Given the description of an element on the screen output the (x, y) to click on. 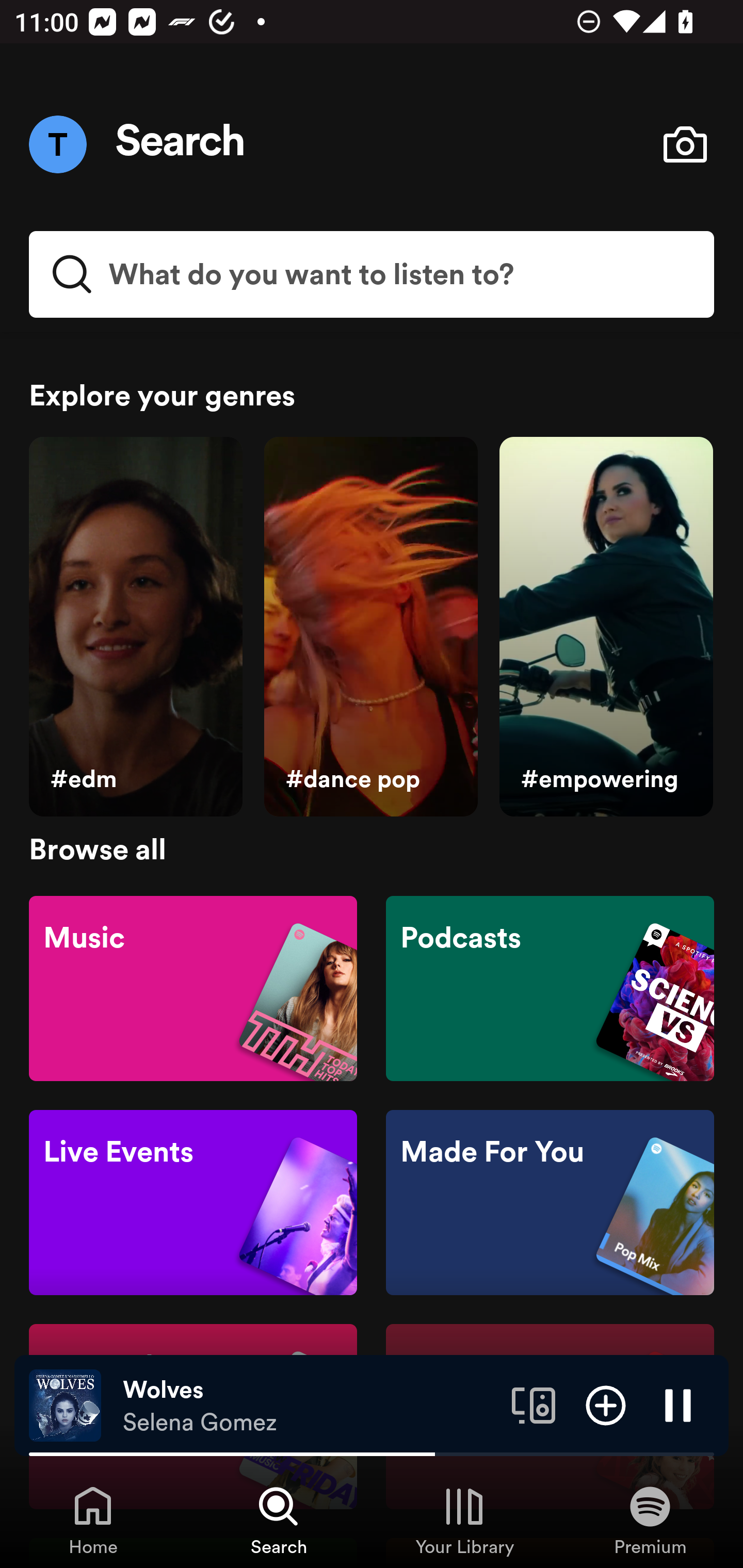
Menu (57, 144)
Open camera (685, 145)
Search (180, 144)
#edm (135, 626)
#dance pop (370, 626)
#empowering (606, 626)
Music (192, 987)
Podcasts (549, 987)
Live Events (192, 1202)
Made For You (549, 1202)
Wolves Selena Gomez (309, 1405)
The cover art of the currently playing track (64, 1404)
Connect to a device. Opens the devices menu (533, 1404)
Add item (605, 1404)
Pause (677, 1404)
Home, Tab 1 of 4 Home Home (92, 1519)
Search, Tab 2 of 4 Search Search (278, 1519)
Your Library, Tab 3 of 4 Your Library Your Library (464, 1519)
Premium, Tab 4 of 4 Premium Premium (650, 1519)
